Given the description of an element on the screen output the (x, y) to click on. 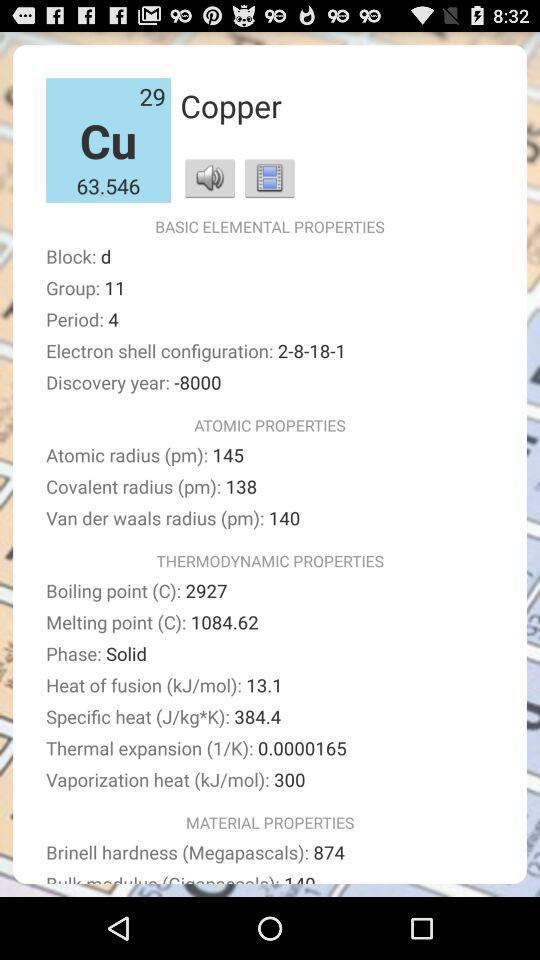
show images (269, 177)
